Given the description of an element on the screen output the (x, y) to click on. 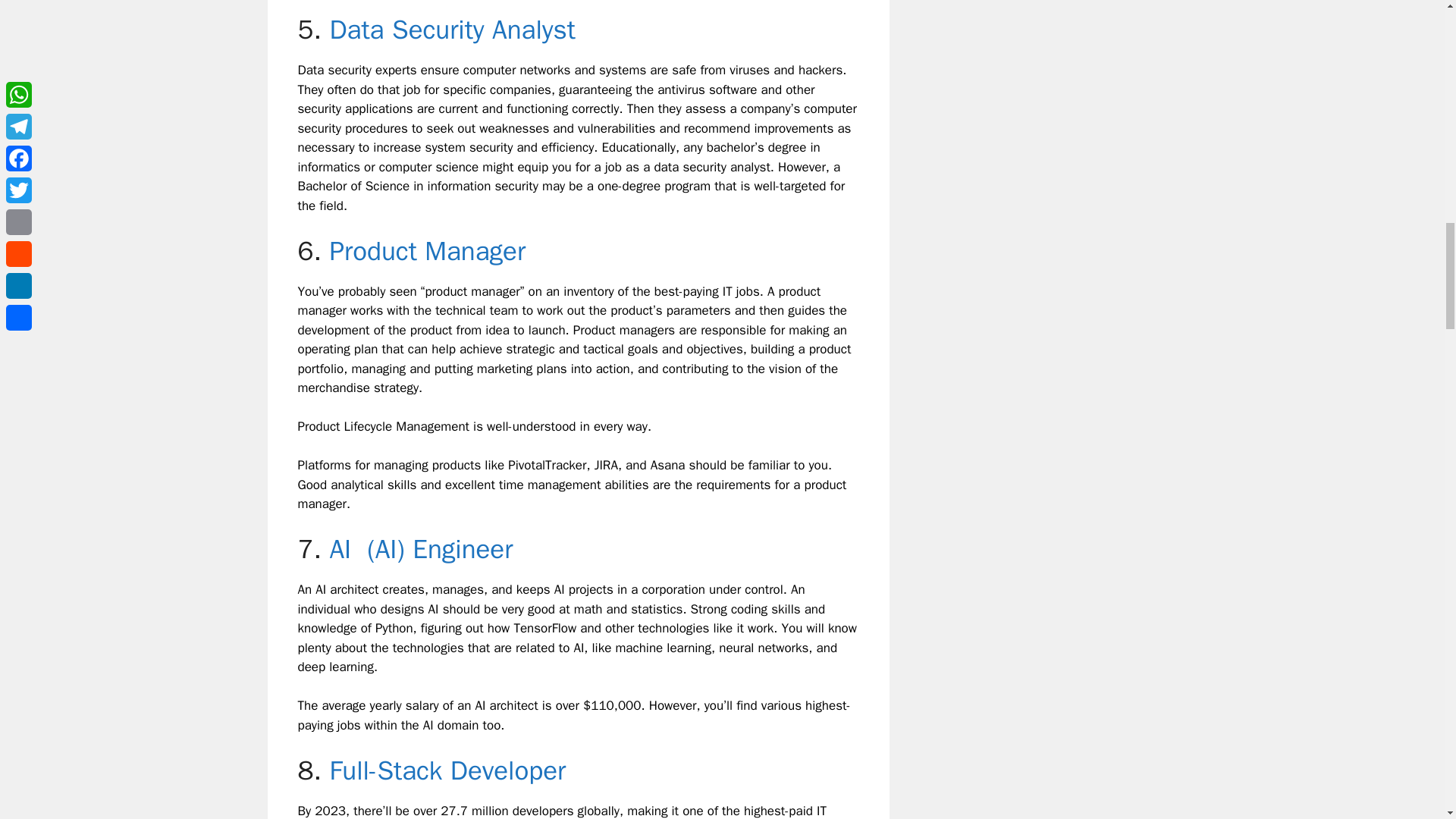
Data Security Analyst (452, 29)
Full-Stack Developer (447, 770)
Product Manager (427, 250)
